Given the description of an element on the screen output the (x, y) to click on. 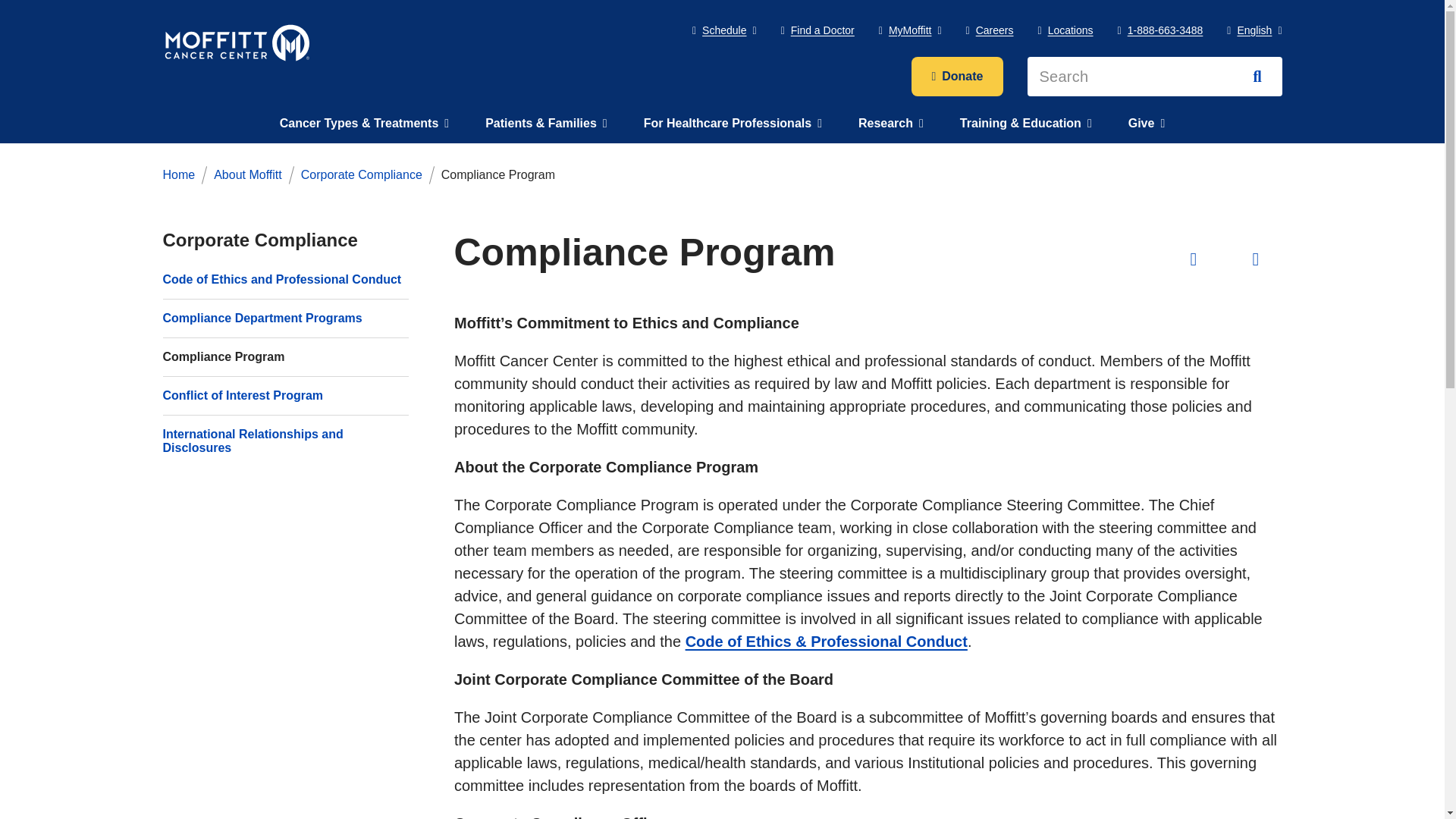
Moffitt Cancer Center (236, 42)
1-888-663-3488 (1161, 30)
Locations (1064, 30)
Careers (989, 30)
Find a Doctor (817, 30)
Locations (1064, 30)
Call 1-888-663-3488 (1161, 30)
Careers (989, 30)
Donate (957, 76)
